Given the description of an element on the screen output the (x, y) to click on. 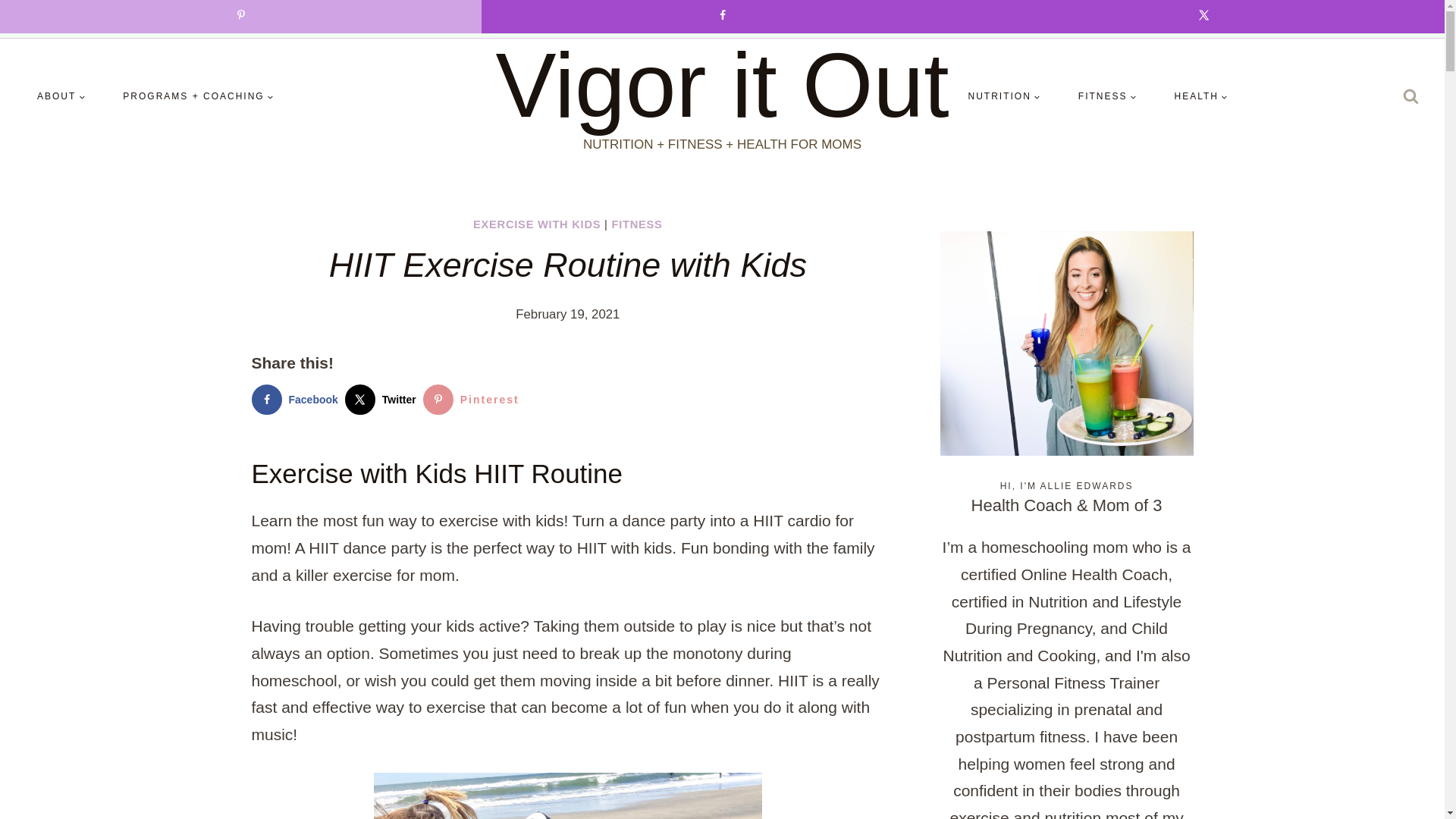
Get it free for a limited time! (1008, 18)
Share on Facebook (298, 399)
HEALTH (1201, 96)
ABOUT (60, 96)
NUTRITION (1004, 96)
Save to Pinterest (474, 399)
FITNESS (1107, 96)
Share on X (384, 399)
